Given the description of an element on the screen output the (x, y) to click on. 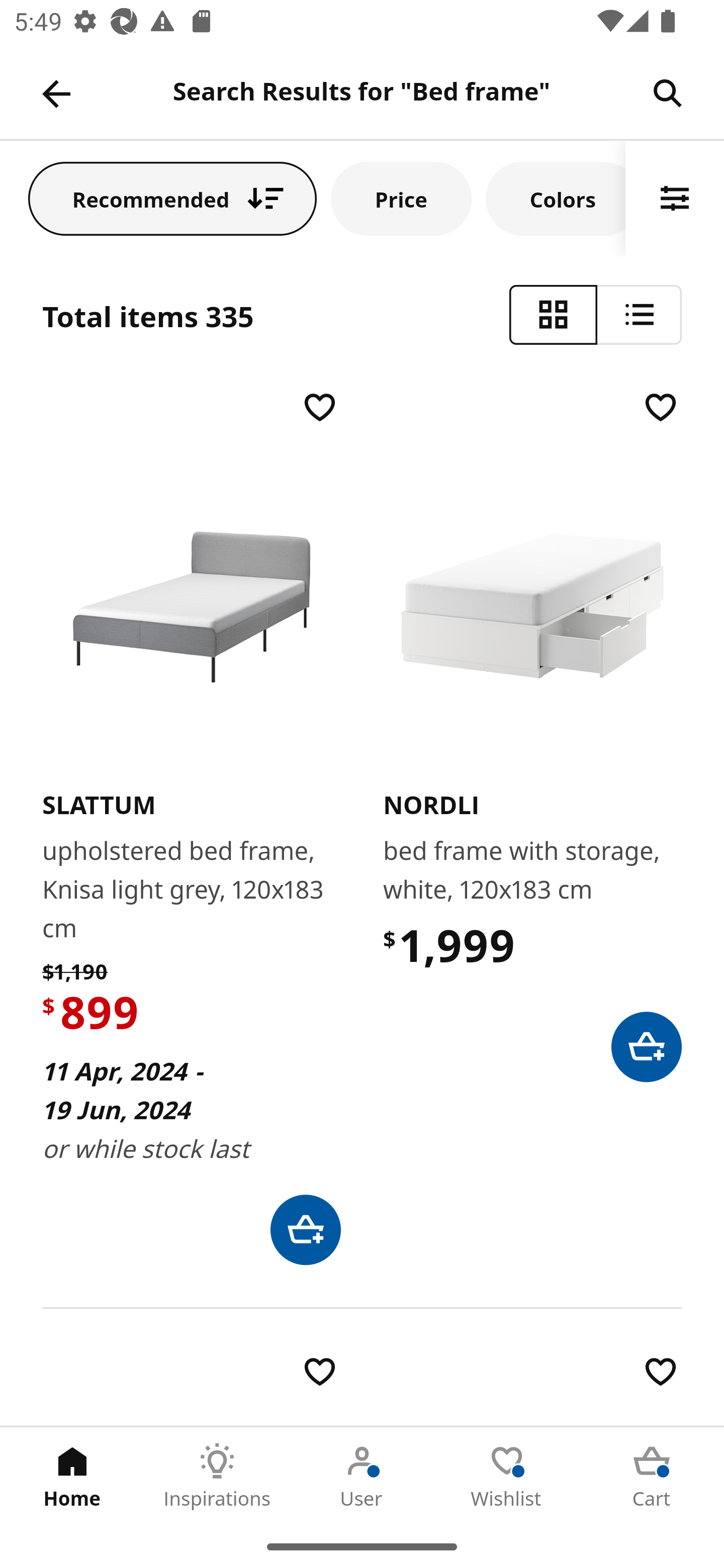
Recommended (172, 198)
Price (400, 198)
Colors (555, 198)
Home
Tab 1 of 5 (72, 1476)
Inspirations
Tab 2 of 5 (216, 1476)
User
Tab 3 of 5 (361, 1476)
Wishlist
Tab 4 of 5 (506, 1476)
Cart
Tab 5 of 5 (651, 1476)
